Given the description of an element on the screen output the (x, y) to click on. 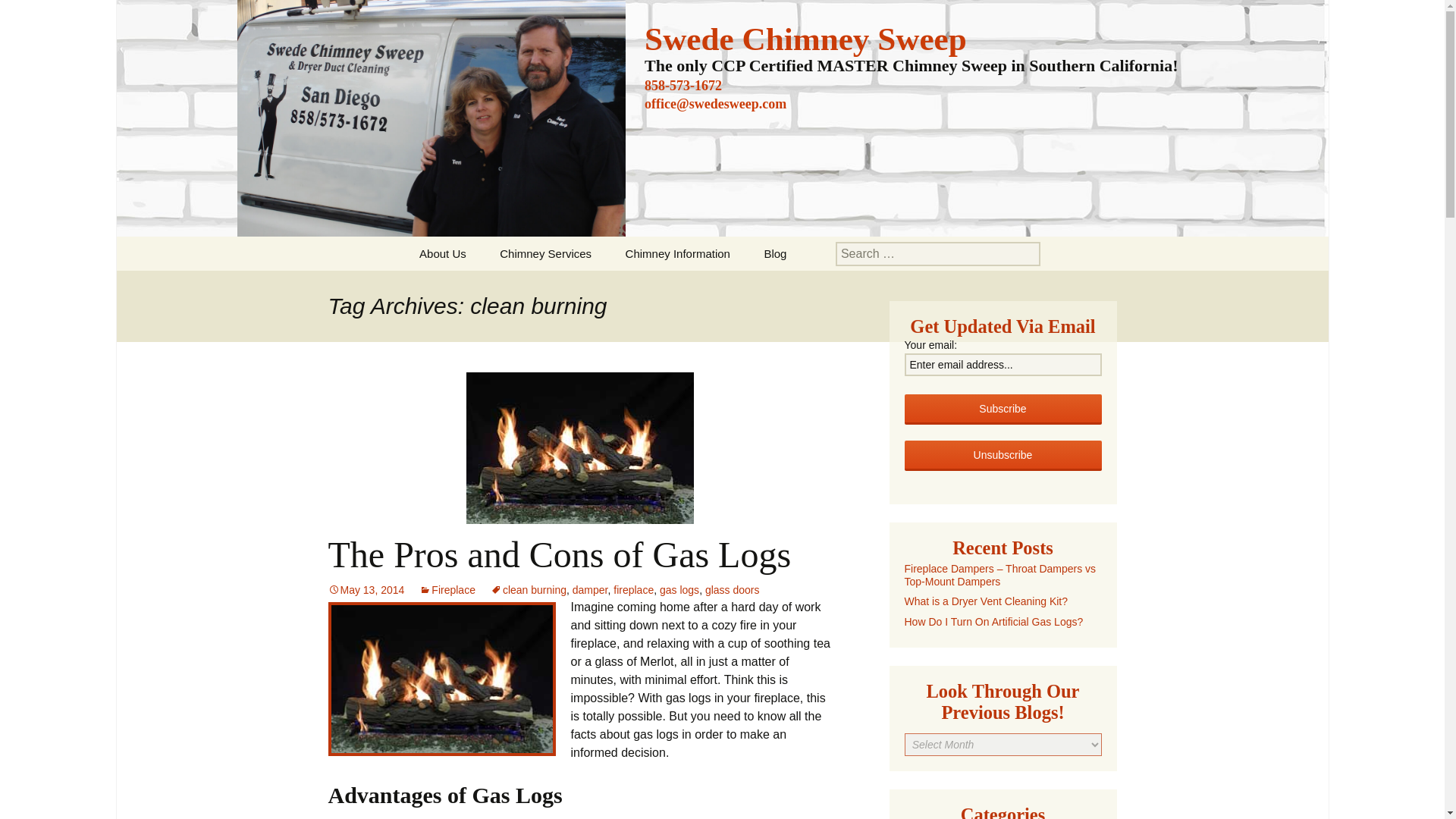
858-573-1672 (683, 85)
Subscribe (1002, 409)
Unsubscribe (1002, 455)
damper (590, 589)
Blog (775, 253)
Chimney Information (677, 253)
Permalink to The Pros and Cons of Gas Logs (365, 589)
Who We Are (480, 287)
Fireplace (447, 589)
Swede Chimney Sweep (805, 46)
Tips for Starting a Fire in Your Fireplace (685, 293)
clean burning (528, 589)
Enter email address... (1002, 363)
May 13, 2014 (365, 589)
